Given the description of an element on the screen output the (x, y) to click on. 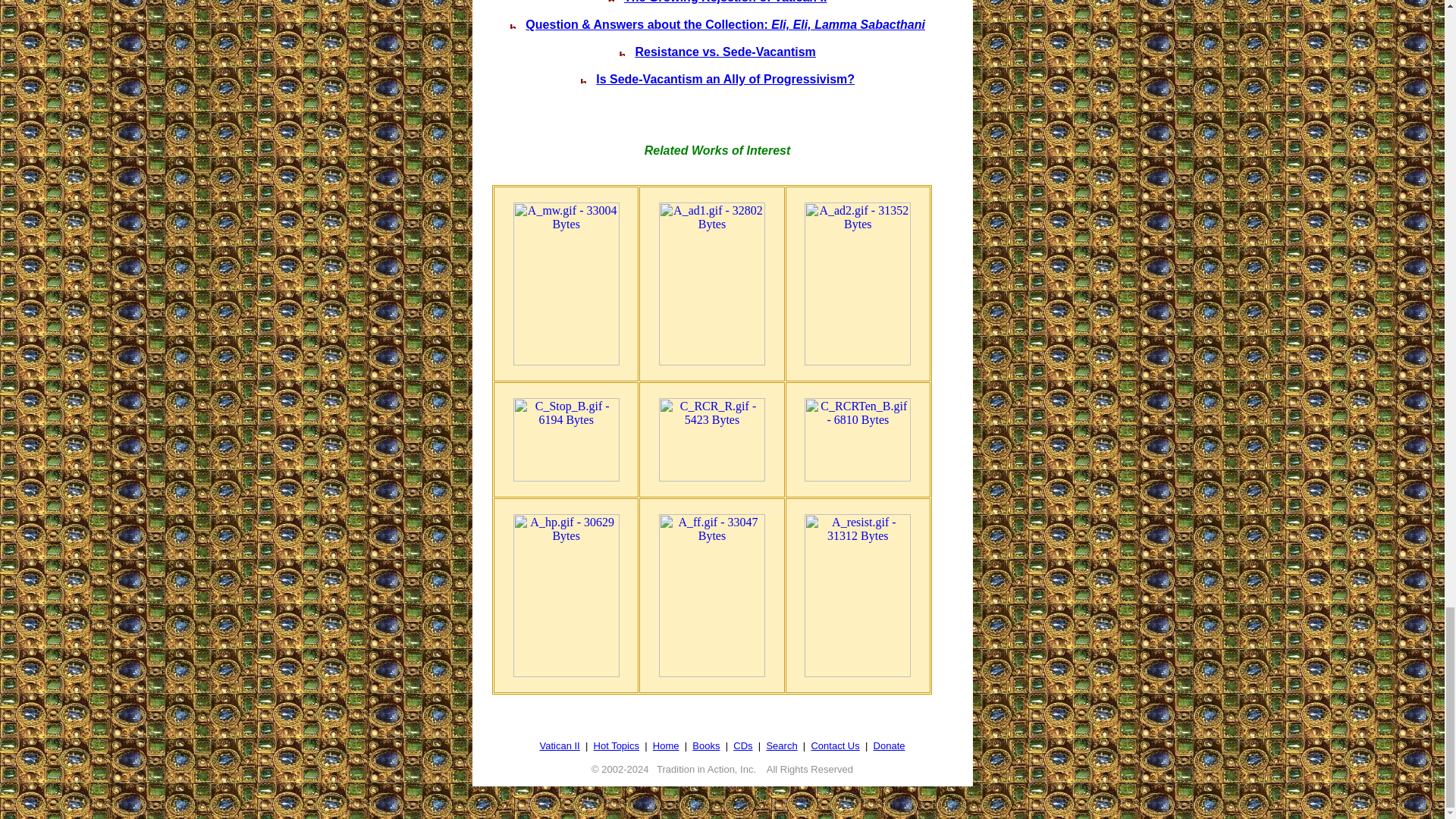
The Growing Rejection of Vatican II (725, 2)
Is Sede-Vacantism an Ally of Progressivism? (724, 78)
Resistance vs. Sede-Vacantism (724, 51)
